Given the description of an element on the screen output the (x, y) to click on. 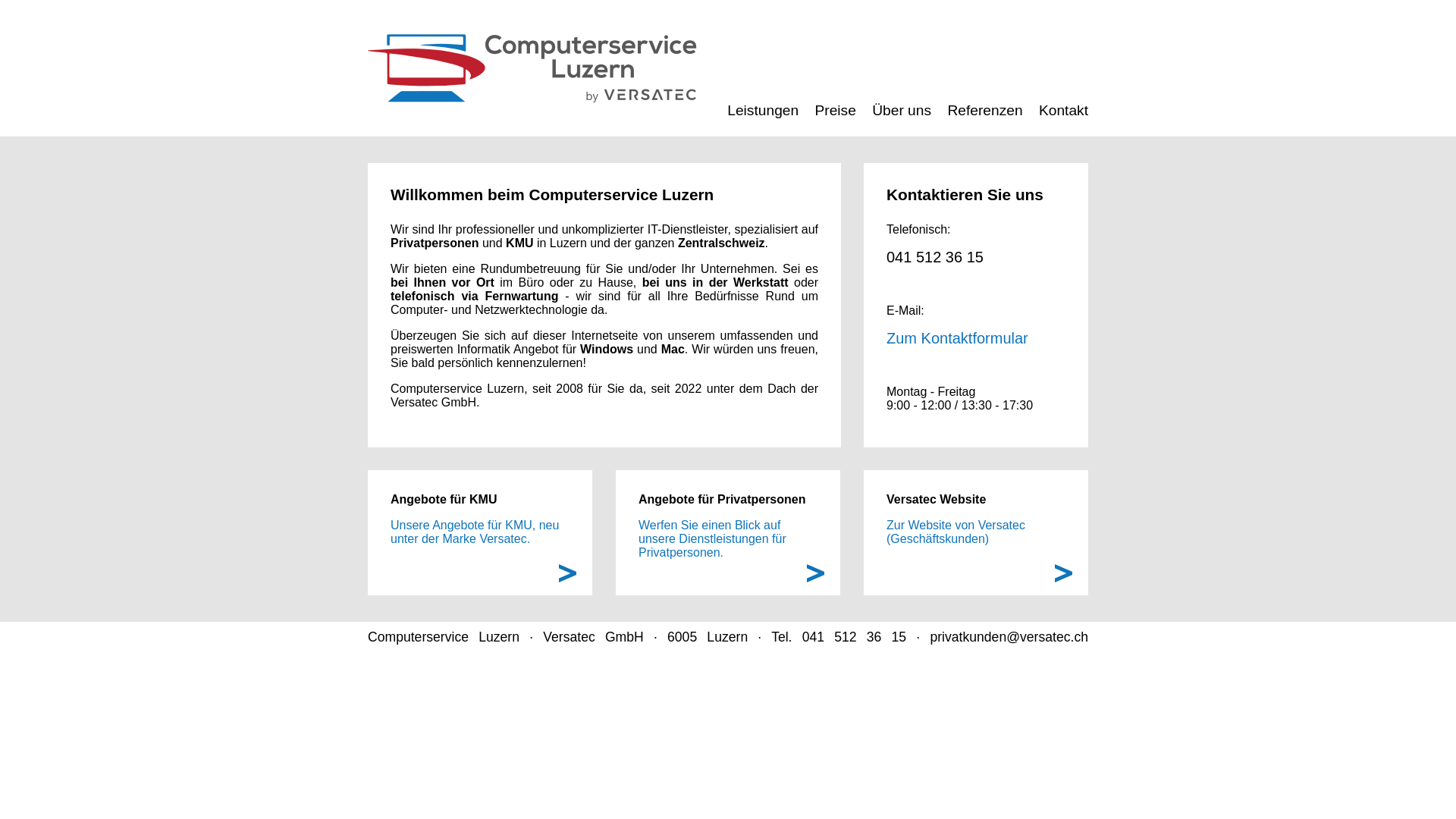
Leistungen Element type: text (762, 110)
Preise Element type: text (834, 110)
Kontakt Element type: text (1063, 110)
Referenzen Element type: text (984, 110)
Zum Kontaktformular Element type: text (957, 338)
